Given the description of an element on the screen output the (x, y) to click on. 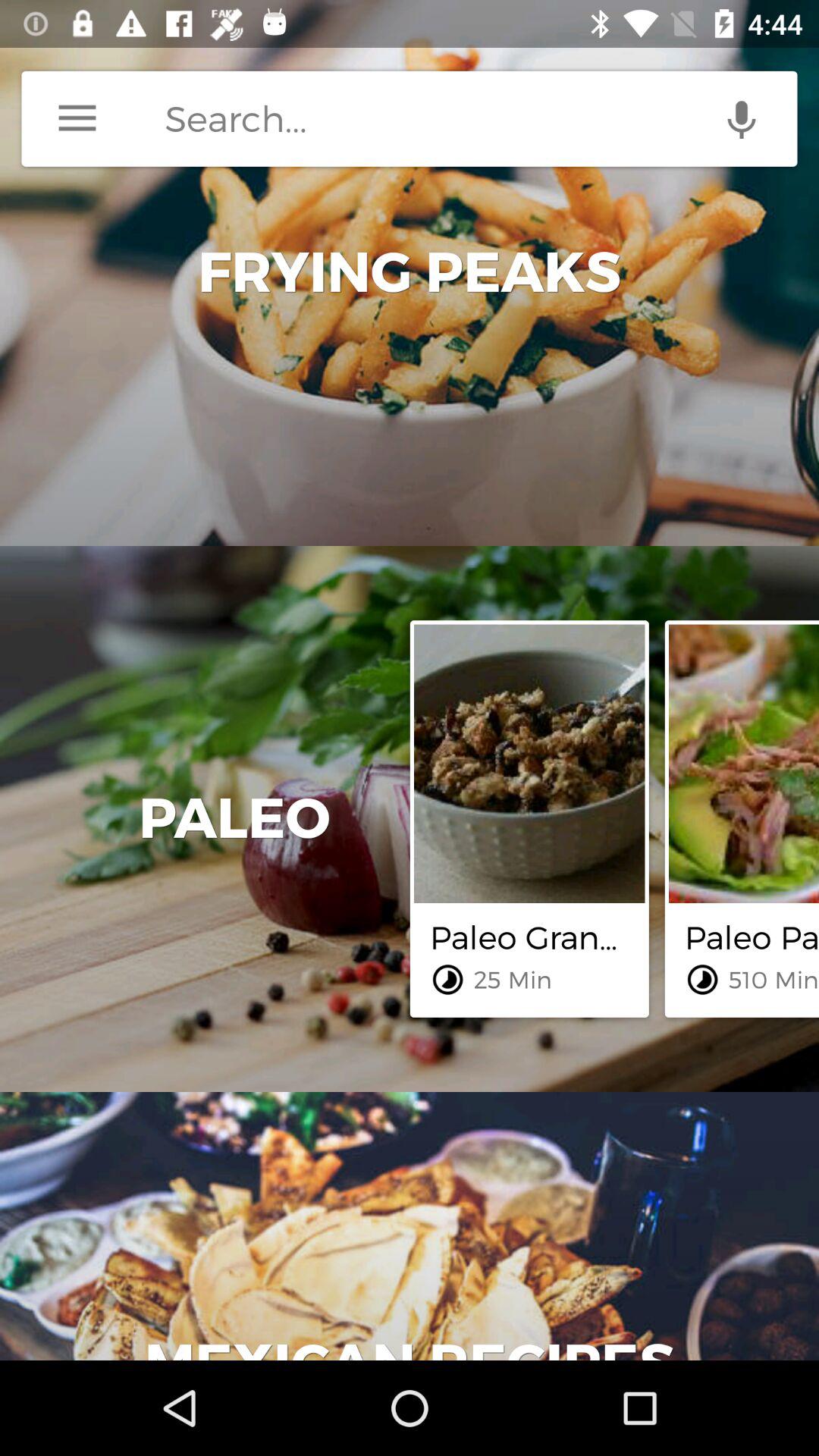
speak to enter text (741, 118)
